Given the description of an element on the screen output the (x, y) to click on. 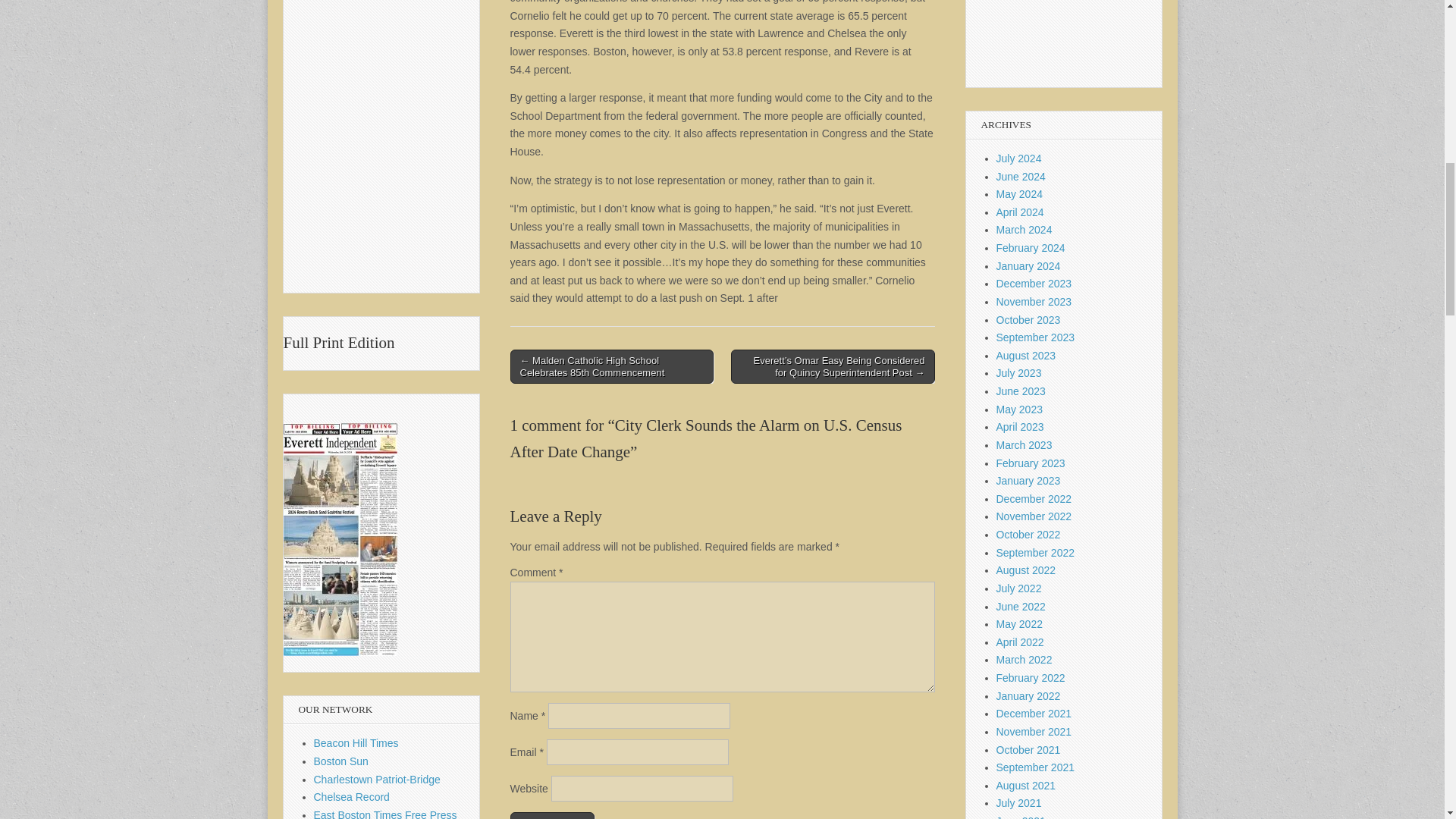
Post Comment (551, 815)
Beacon Hill Times (356, 743)
Chelsea Record (352, 797)
Post Comment (551, 815)
East Boston Times Free Press (385, 814)
Charlestown Patriot-Bridge (377, 779)
Boston Sun (341, 761)
